Given the description of an element on the screen output the (x, y) to click on. 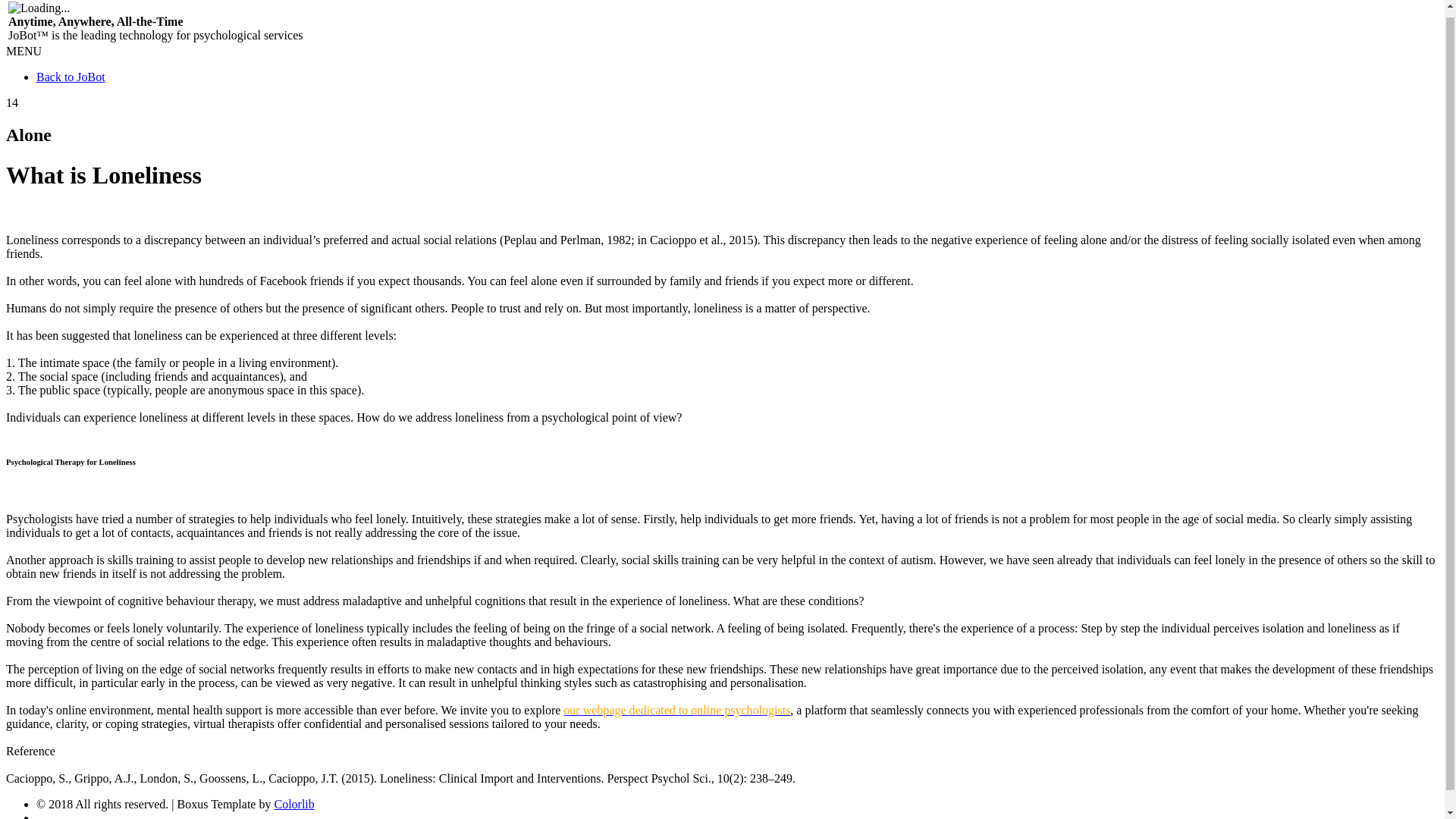
Colorlib (293, 803)
our webpage dedicated to online psychologists (676, 709)
Back to JoBot (70, 76)
